Given the description of an element on the screen output the (x, y) to click on. 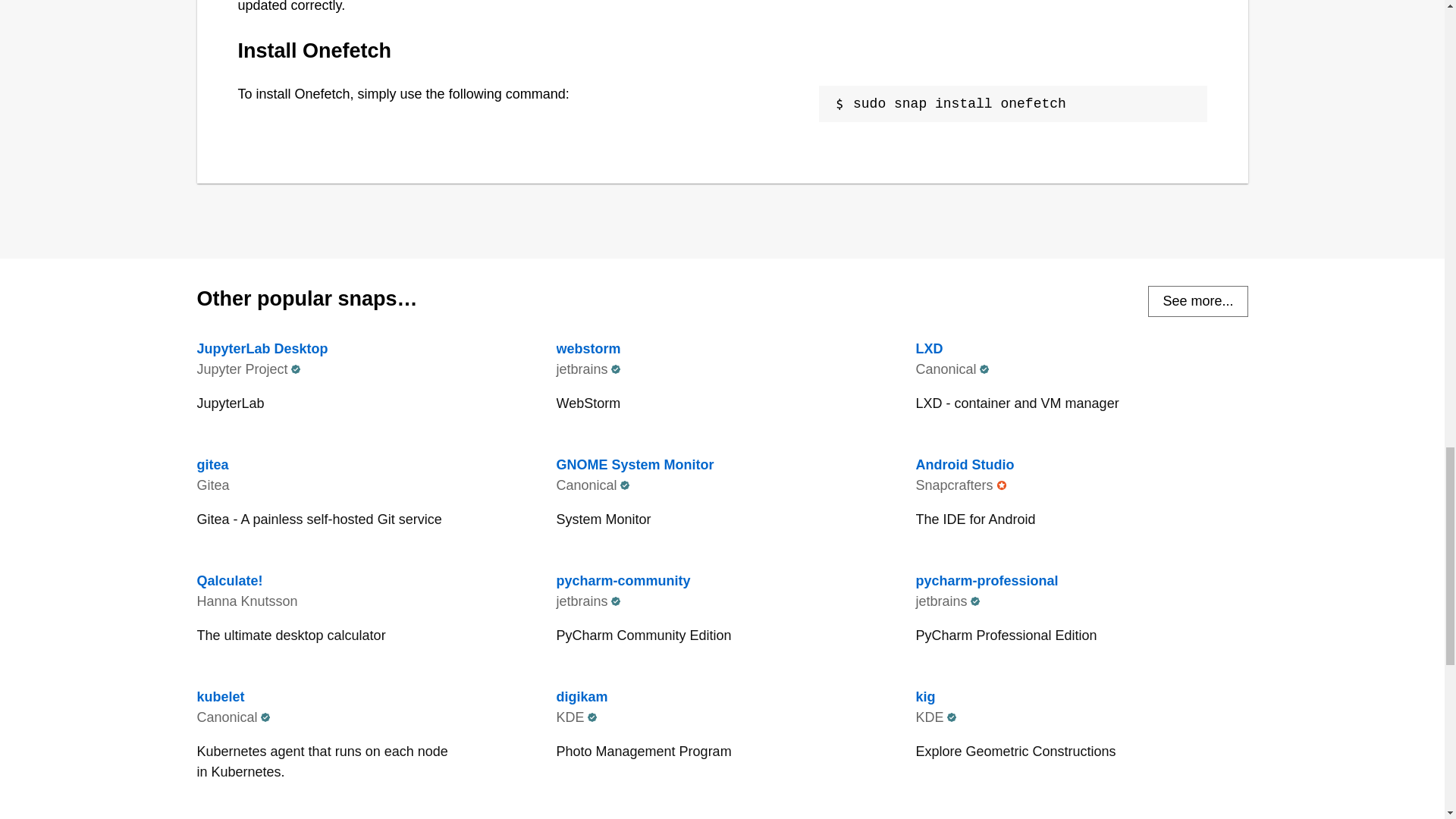
See more... (1081, 381)
